Given the description of an element on the screen output the (x, y) to click on. 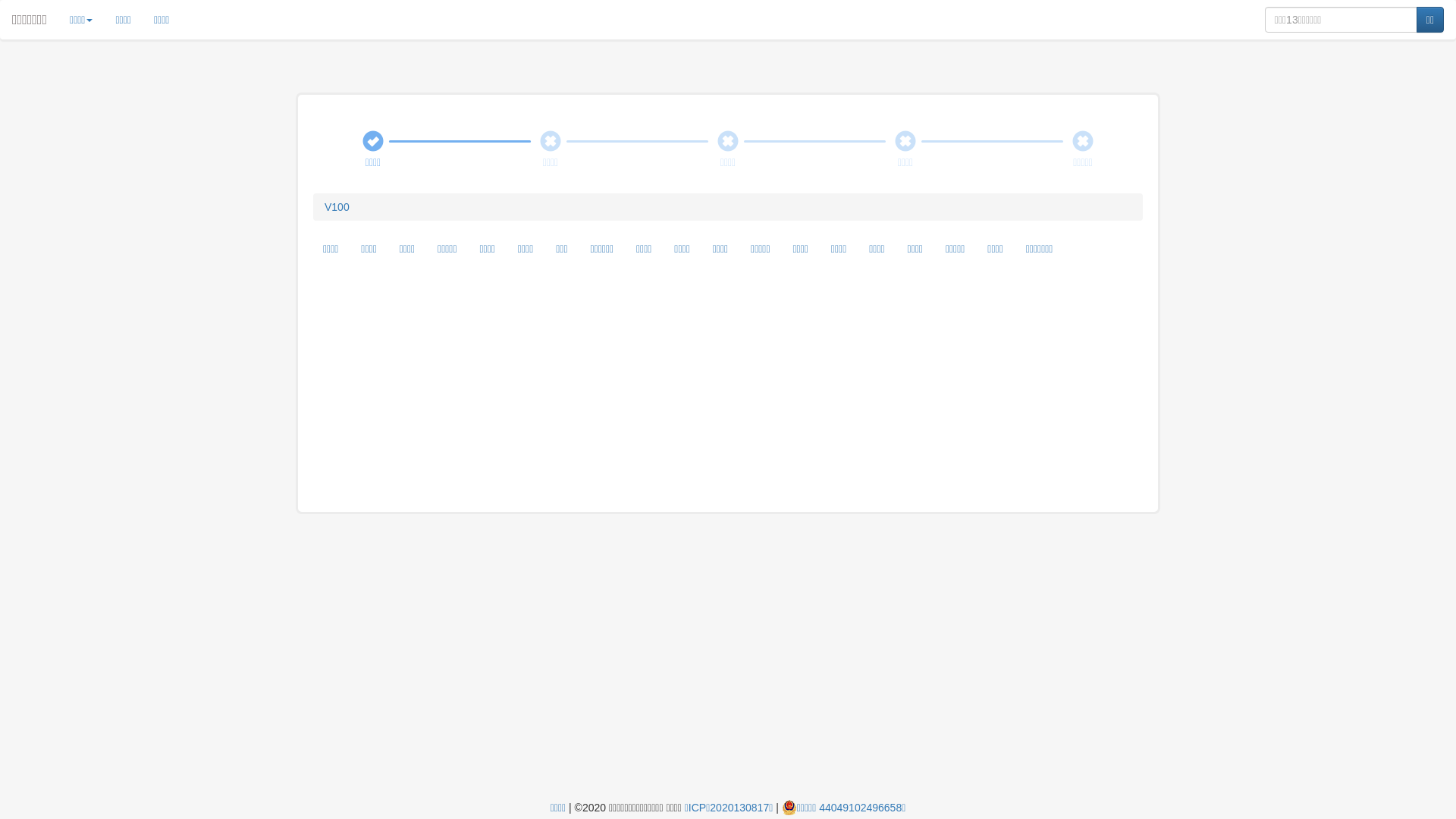
V100 Element type: text (336, 206)
